Given the description of an element on the screen output the (x, y) to click on. 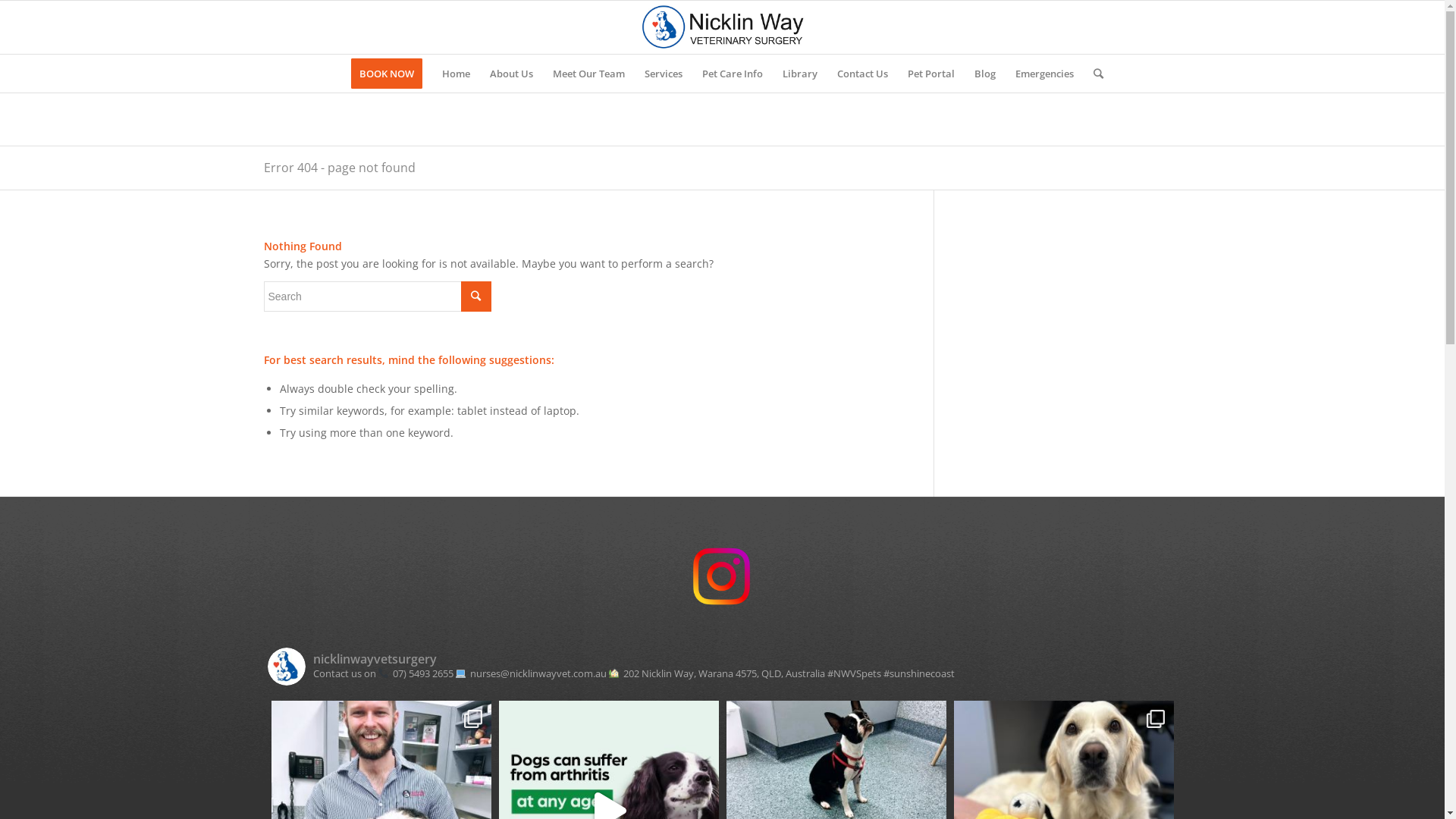
Emergencies Element type: text (1044, 73)
BOOK NOW Element type: text (386, 73)
Library Element type: text (799, 73)
Services Element type: text (663, 73)
Pet Portal Element type: text (930, 73)
Meet Our Team Element type: text (588, 73)
Pet Care Info Element type: text (732, 73)
Home Element type: text (456, 73)
About Us Element type: text (511, 73)
Blog Element type: text (984, 73)
Contact Us Element type: text (862, 73)
